Given the description of an element on the screen output the (x, y) to click on. 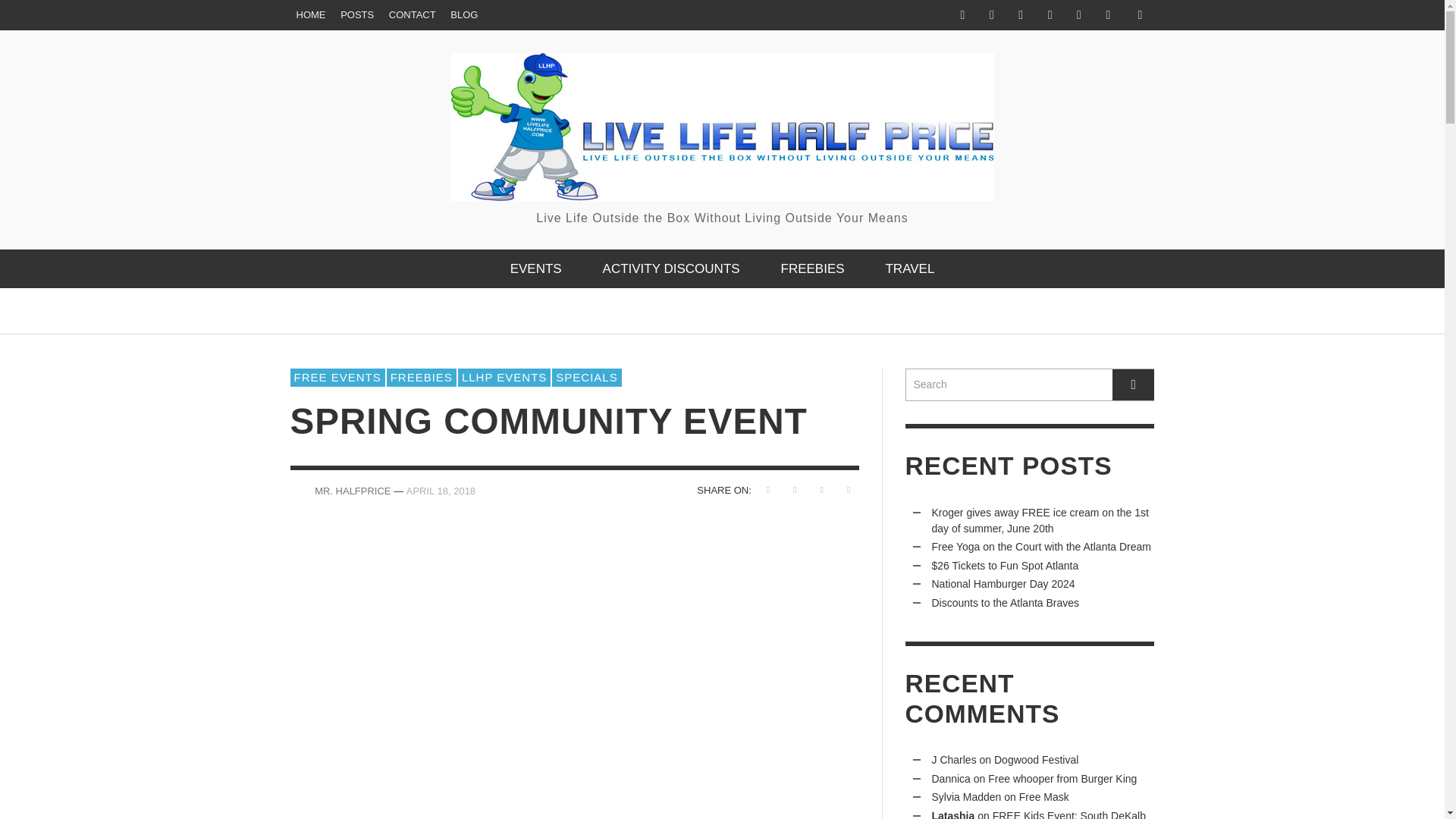
HOME (310, 15)
BLOG (463, 15)
Facebook (961, 15)
Live Life Outside the Box Without Living Outside Your Means (721, 139)
Twitter (1107, 15)
ACTIVITY DISCOUNTS (670, 268)
Instagram (1020, 15)
Pinterest (1078, 15)
Search (1029, 384)
EVENTS (536, 268)
